Given the description of an element on the screen output the (x, y) to click on. 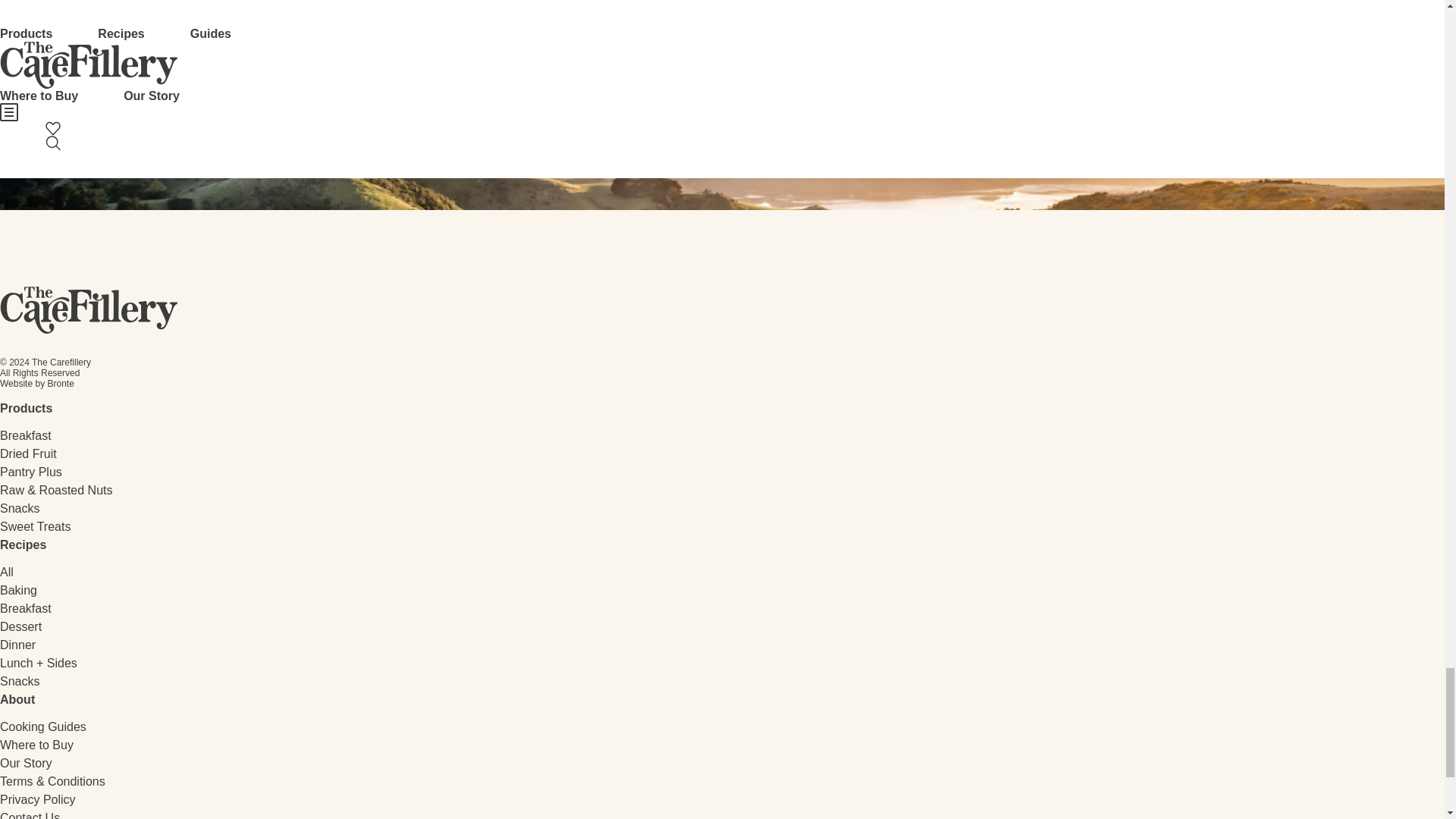
see our sustainability projects here (722, 11)
Snacks (19, 680)
Cooking Guides (42, 726)
Sweet Treats (34, 526)
Pantry Plus (31, 472)
Where to Buy (37, 744)
Breakfast (25, 435)
Dinner (17, 644)
Breakfast (25, 608)
All (6, 571)
Our Story (25, 762)
Website by Bronte (37, 383)
Dried Fruit (28, 453)
Baking (18, 590)
Snacks (19, 508)
